Given the description of an element on the screen output the (x, y) to click on. 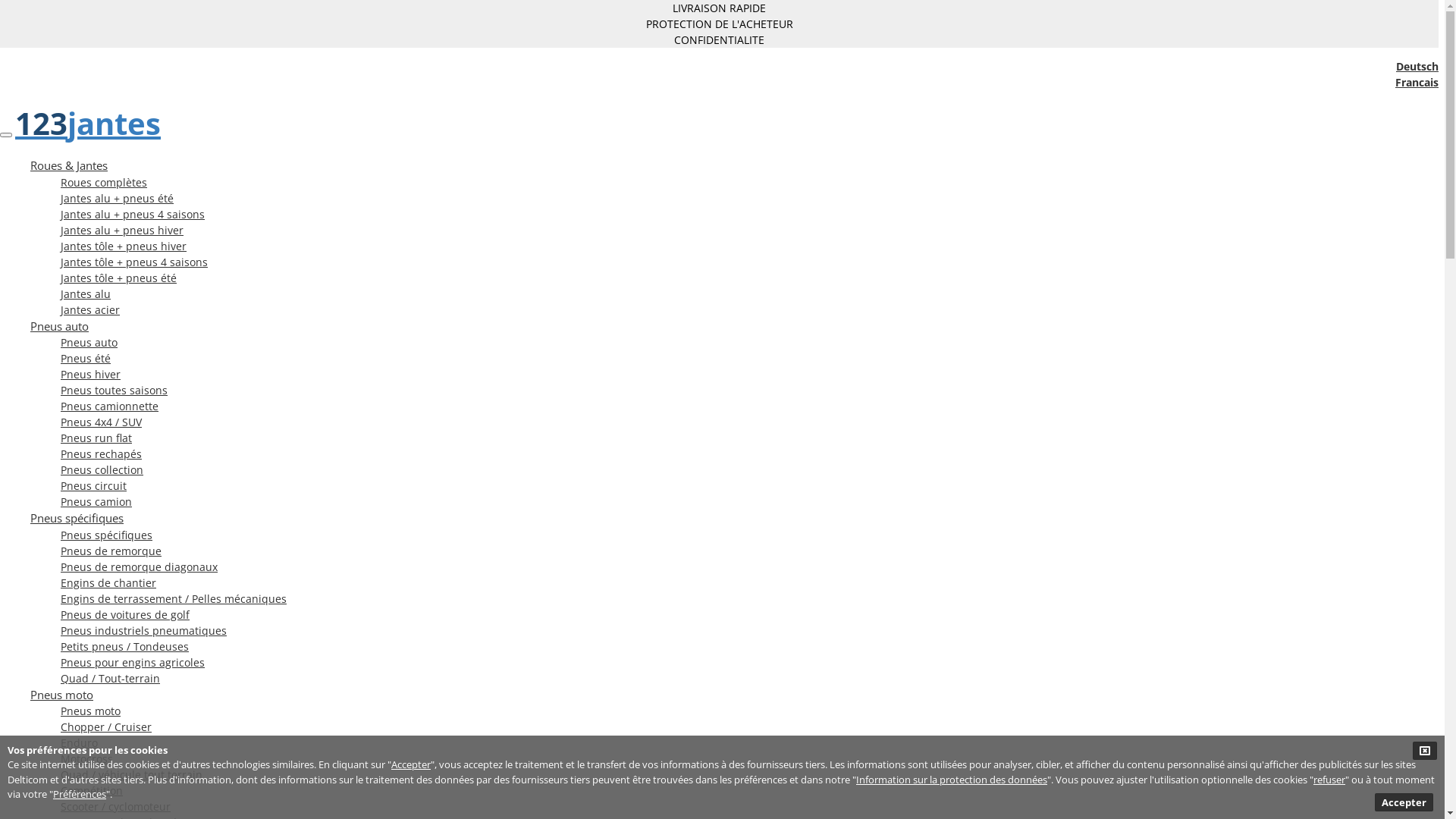
Francais Element type: text (1416, 82)
Accepter Element type: text (1403, 802)
Accepter Element type: text (410, 764)
Roues & Jantes Element type: text (68, 164)
Deutsch Element type: text (1417, 66)
Pneus de remorque diagonaux Element type: text (138, 566)
Toggle navigation Element type: text (6, 134)
Pneus camion Element type: text (95, 501)
Pneus moto Element type: text (90, 710)
Pneus hiver Element type: text (90, 374)
Pneus moto Element type: text (61, 694)
Pneus pour engins agricoles Element type: text (132, 662)
123jantes Element type: text (87, 123)
Jantes alu + pneus hiver Element type: text (121, 229)
Jantes alu Element type: text (85, 293)
Pneus collection Element type: text (101, 469)
Jantes alu + pneus 4 saisons Element type: text (132, 213)
Pneus toutes saisons Element type: text (113, 389)
Scooter / cyclomoteur Element type: text (115, 806)
Chopper / Cruiser Element type: text (105, 726)
Pneus 4x4 / SUV Element type: text (100, 421)
Pneus camionnette Element type: text (109, 405)
Enduro Element type: text (78, 742)
Petits pneus / Tondeuses Element type: text (124, 645)
Pneus run flat Element type: text (95, 437)
Motocross Element type: text (86, 758)
refuser Element type: text (1329, 778)
Jantes acier Element type: text (89, 308)
Pneus auto Element type: text (88, 342)
Pneus auto Element type: text (59, 325)
Pneus industriels pneumatiques Element type: text (143, 630)
Pneus de remorque Element type: text (110, 549)
Quad / Tout-terrain Element type: text (110, 677)
Engins de chantier Element type: text (108, 581)
Pneus de voitures de golf Element type: text (124, 613)
Pneus circuit Element type: text (93, 485)
